Given the description of an element on the screen output the (x, y) to click on. 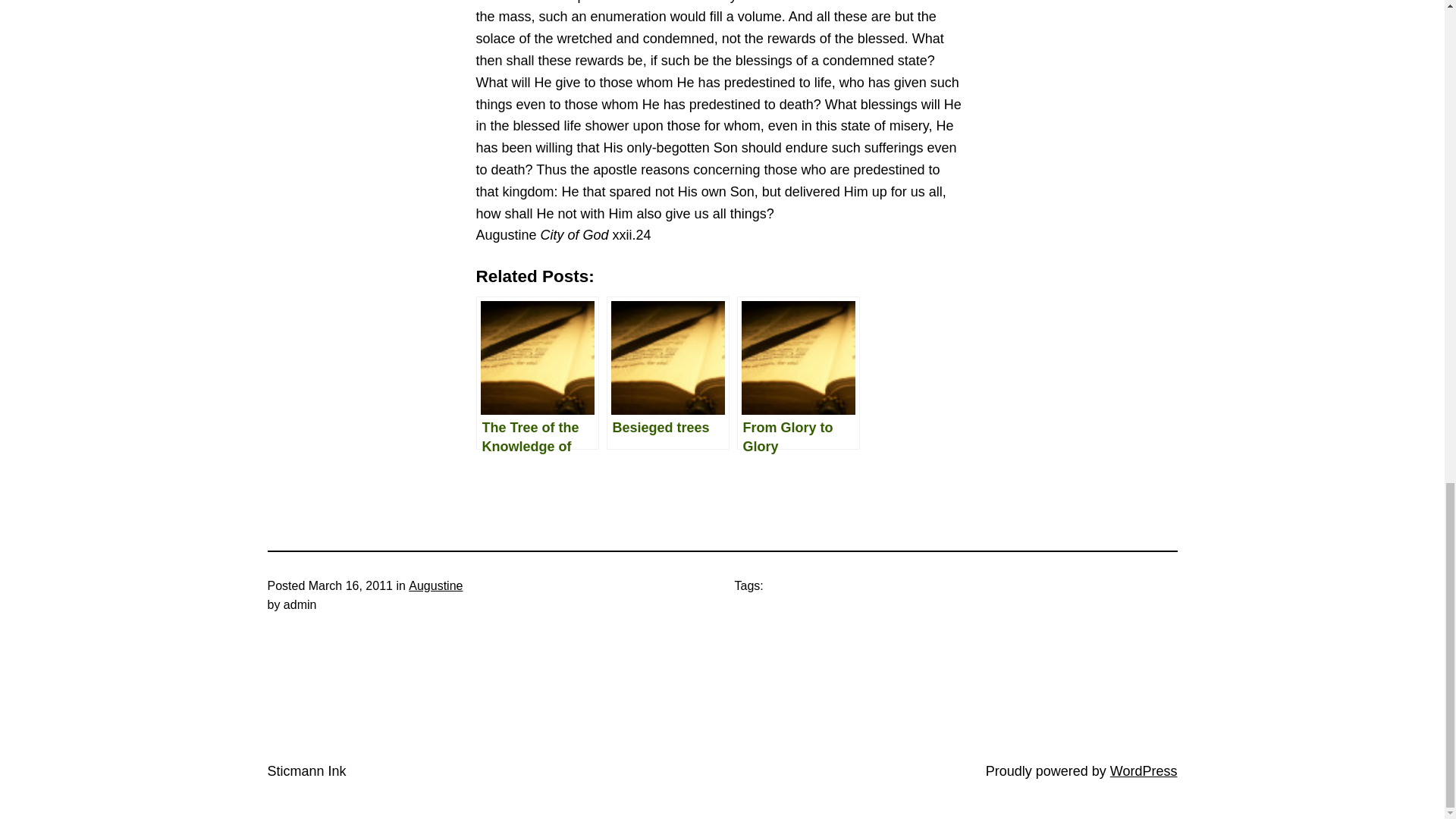
Sticmann Ink (306, 770)
WordPress (1143, 770)
Augustine (436, 585)
